Given the description of an element on the screen output the (x, y) to click on. 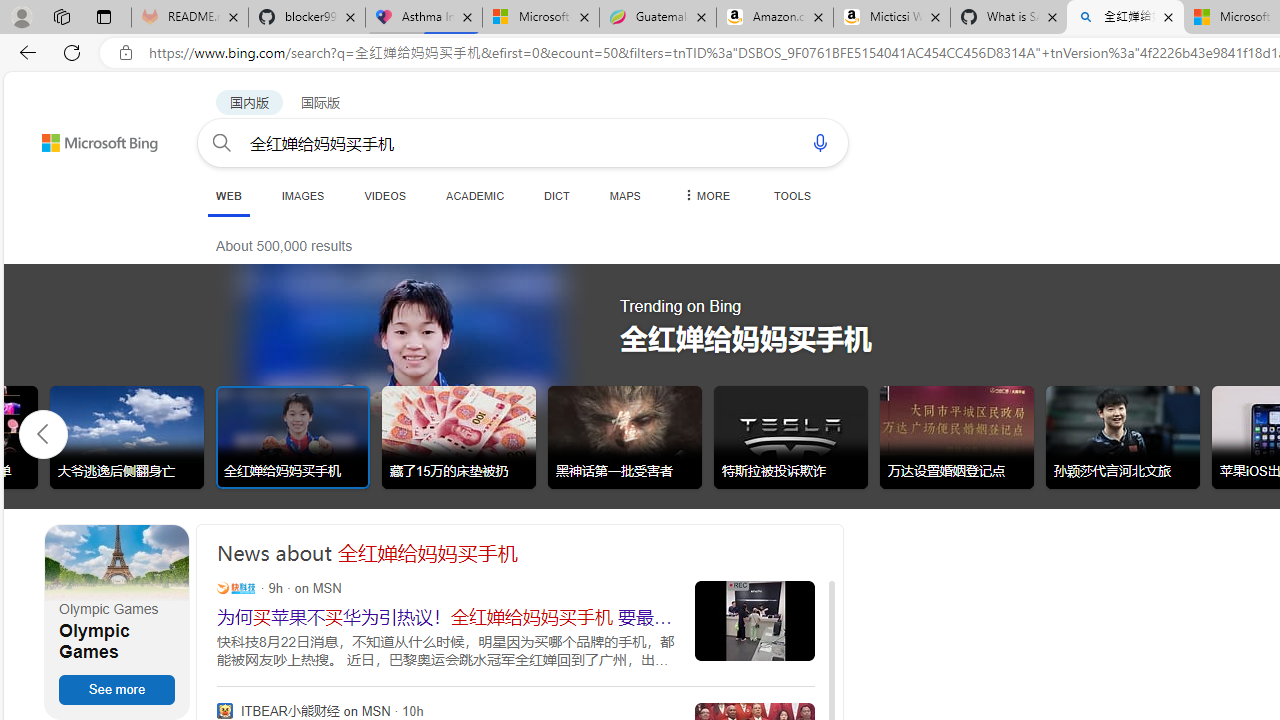
MAPS (624, 195)
Back to Bing search (87, 138)
ACADEMIC (475, 195)
DICT (557, 195)
WEB (228, 195)
